Given the description of an element on the screen output the (x, y) to click on. 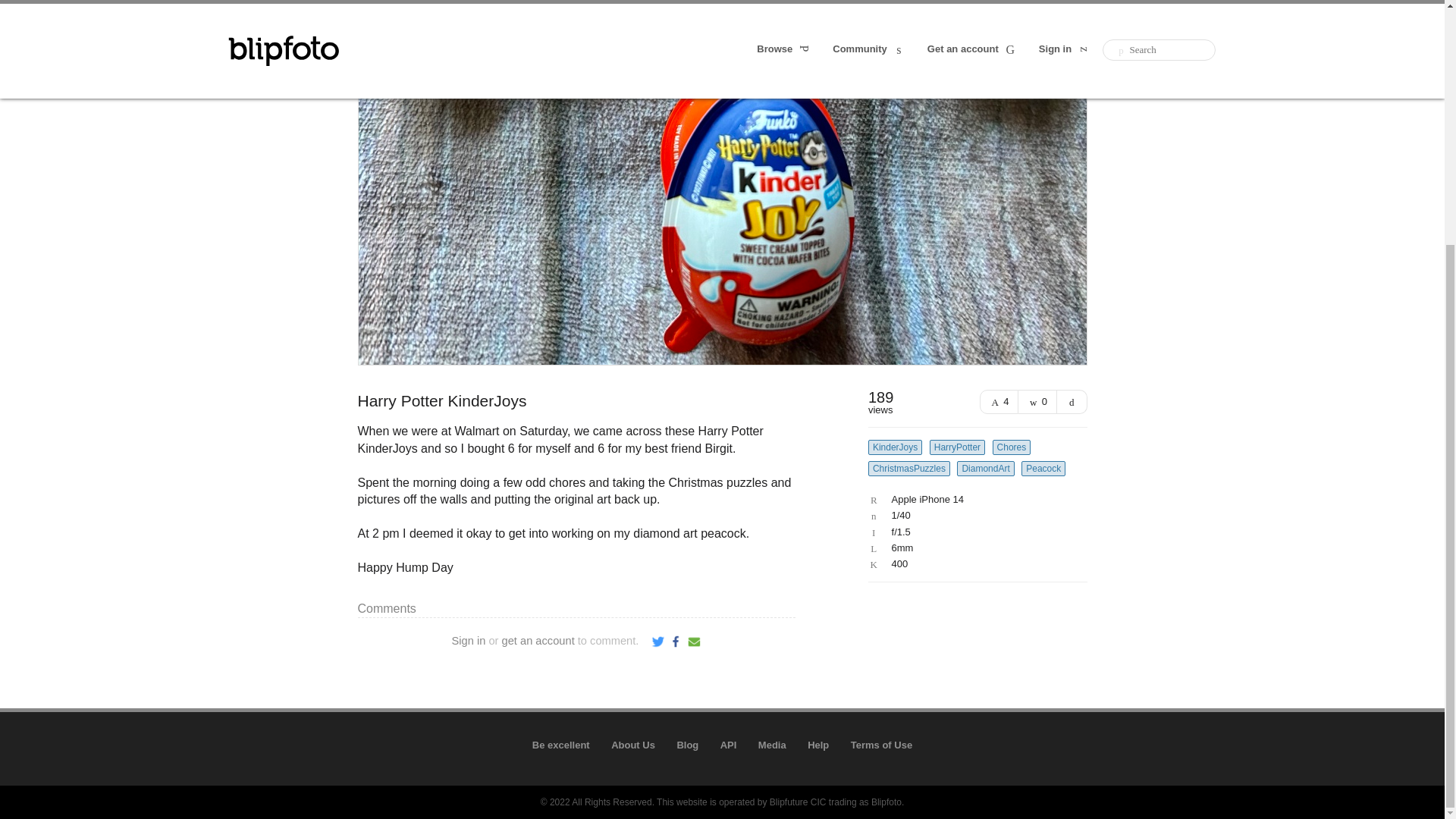
DiamondArt (984, 468)
Media (772, 745)
Be excellent (560, 745)
About Us (633, 745)
Focal length (973, 547)
Show large (1072, 401)
HarryPotter (957, 447)
Peacock (1043, 468)
KinderJoys (894, 447)
F-Stop (973, 532)
Blog (687, 745)
API (728, 745)
Chores (1011, 447)
Camera (973, 499)
get an account (538, 640)
